Given the description of an element on the screen output the (x, y) to click on. 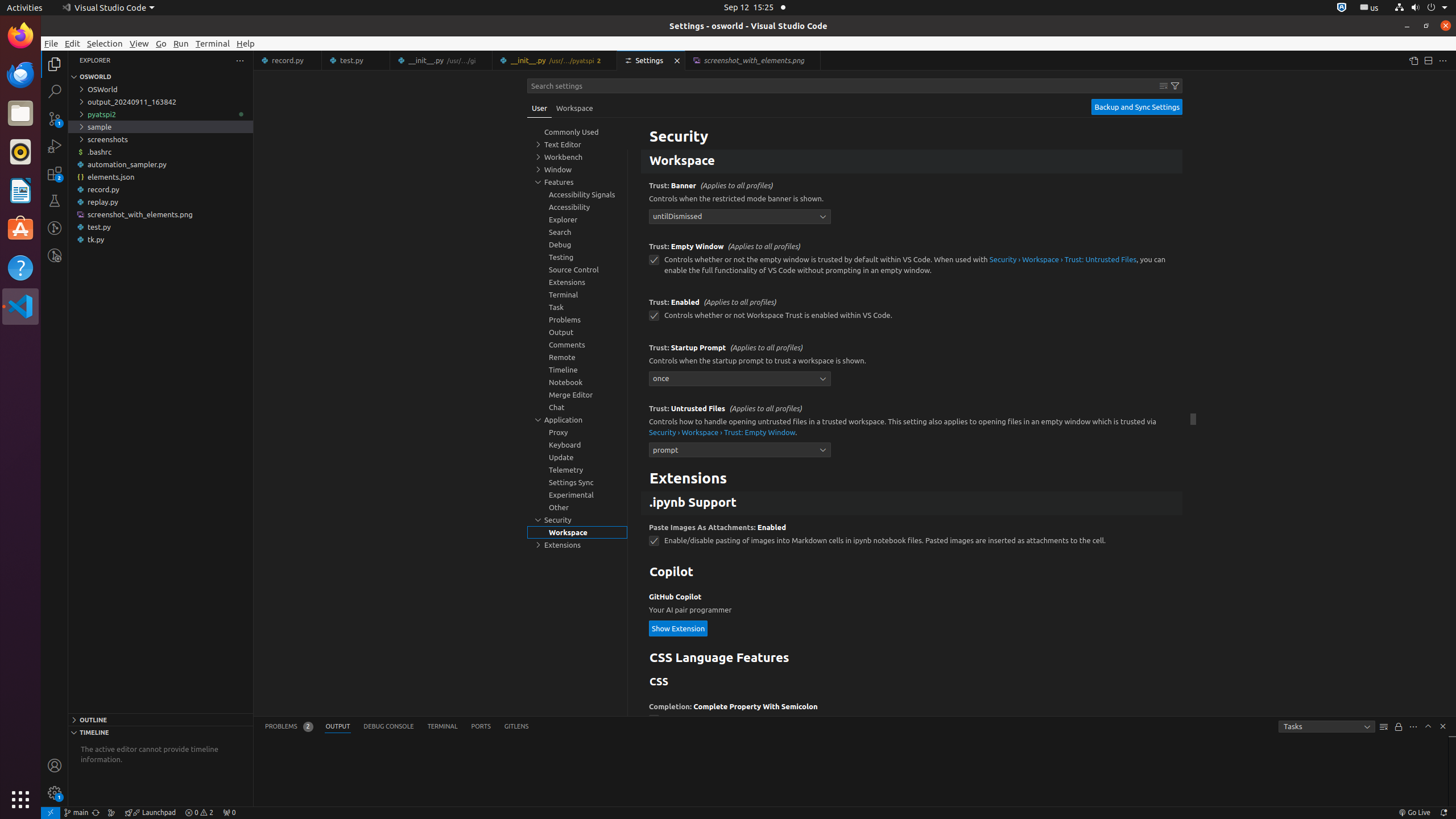
Copilot Element type: tree-item (911, 572)
Security › Workspace › Trust: Empty Window Element type: link (721, 431)
Proxy, group Element type: tree-item (577, 431)
Problems (Ctrl+Shift+M) - Total 2 Problems Element type: page-tab (288, 726)
Merge Editor, group Element type: tree-item (577, 394)
